Given the description of an element on the screen output the (x, y) to click on. 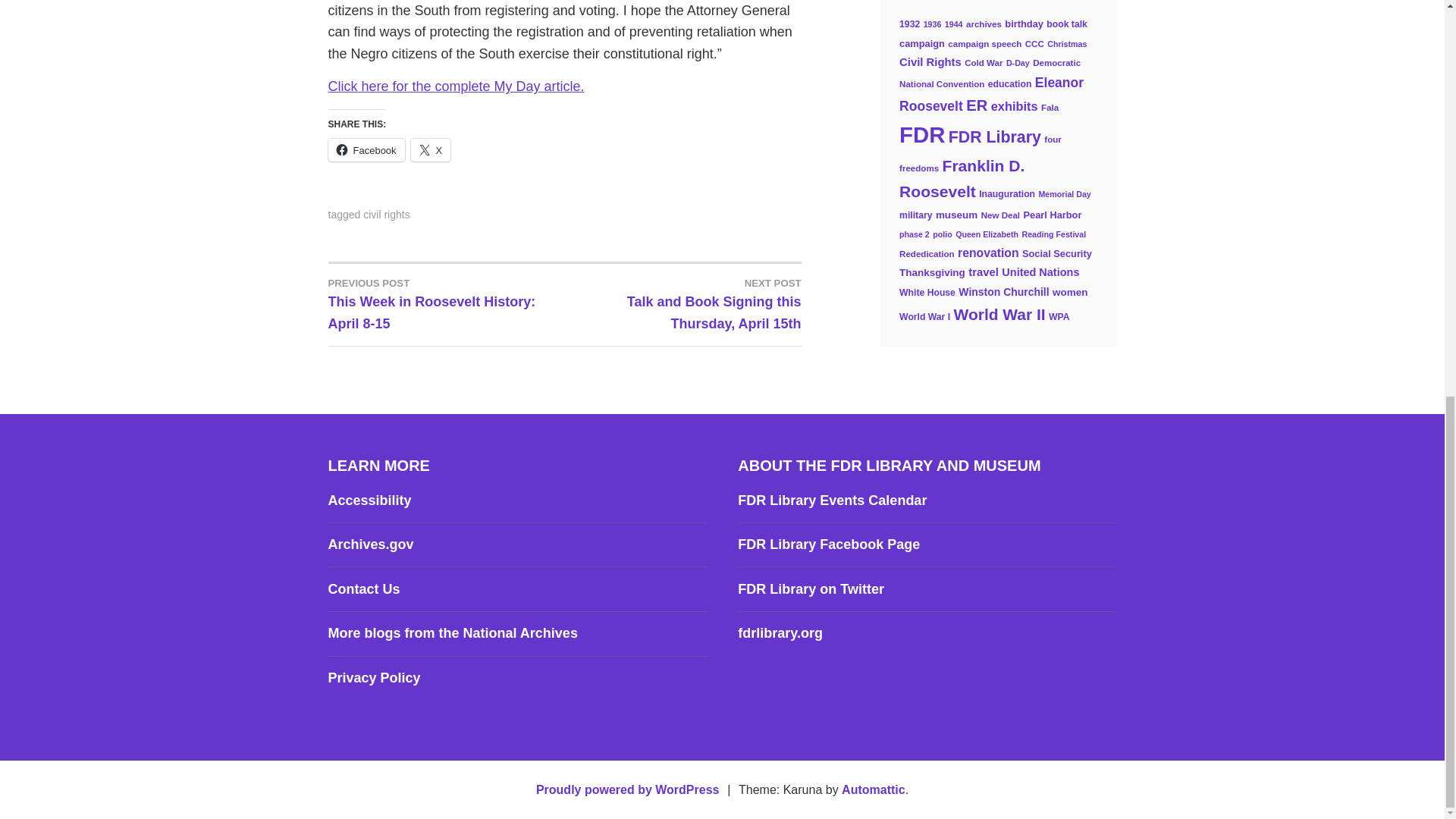
Christmas (1066, 43)
four freedoms (980, 153)
Cold War (983, 62)
1932 (909, 23)
archives (983, 23)
Website of the FDR Presidential Library and Museum (780, 632)
exhibits (1014, 106)
civil rights (385, 214)
book talk (1066, 23)
FDR (921, 134)
FDR Library (995, 136)
campaign speech (984, 43)
U.S. National Archives Blogroll (451, 632)
Accessibility information on archives.gov (368, 500)
Facebook (365, 149)
